Given the description of an element on the screen output the (x, y) to click on. 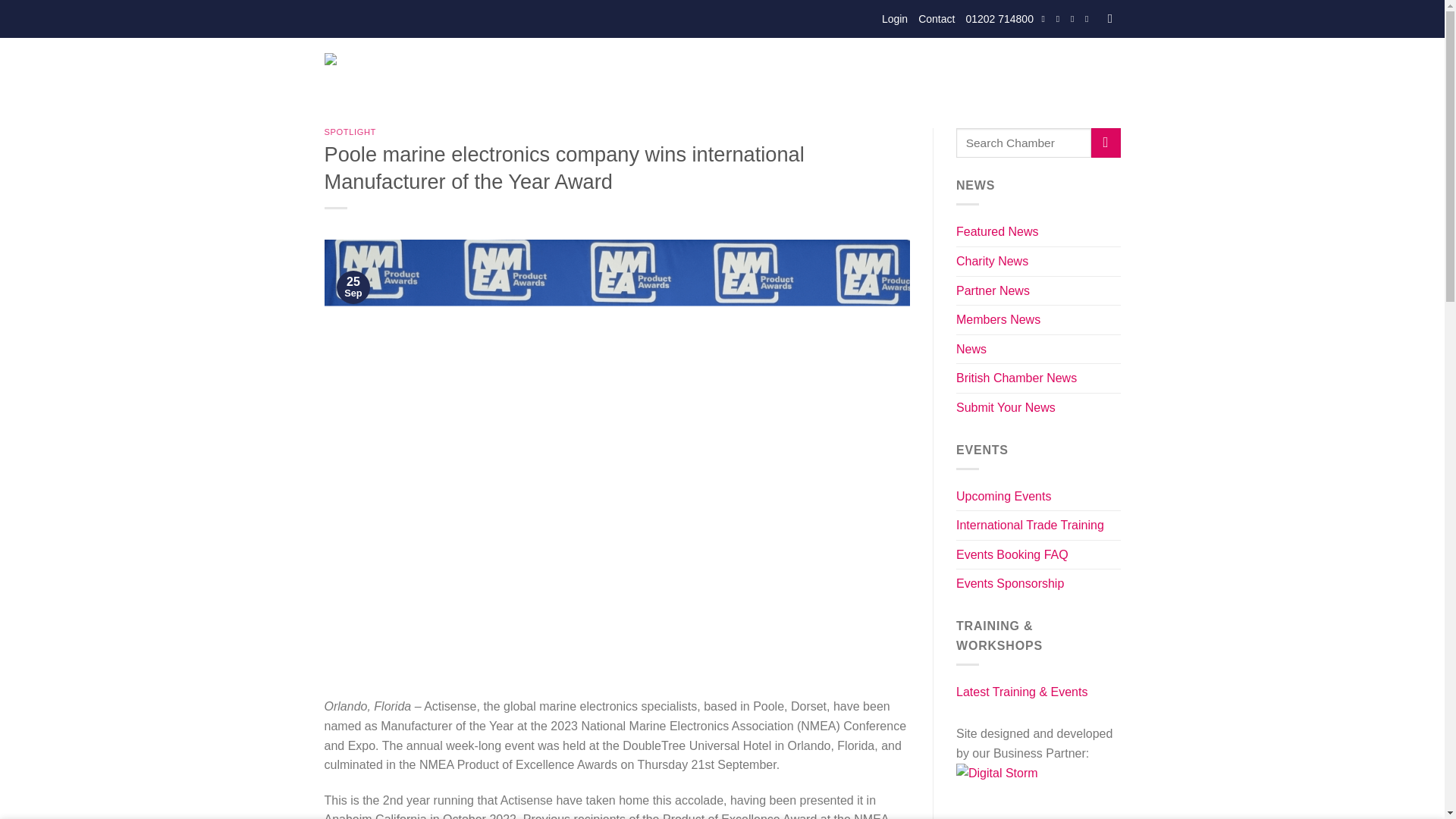
Events (613, 71)
About (559, 71)
Membership (683, 71)
Digital Storm (1031, 788)
Contact (936, 18)
01202 714800 (999, 18)
